Given the description of an element on the screen output the (x, y) to click on. 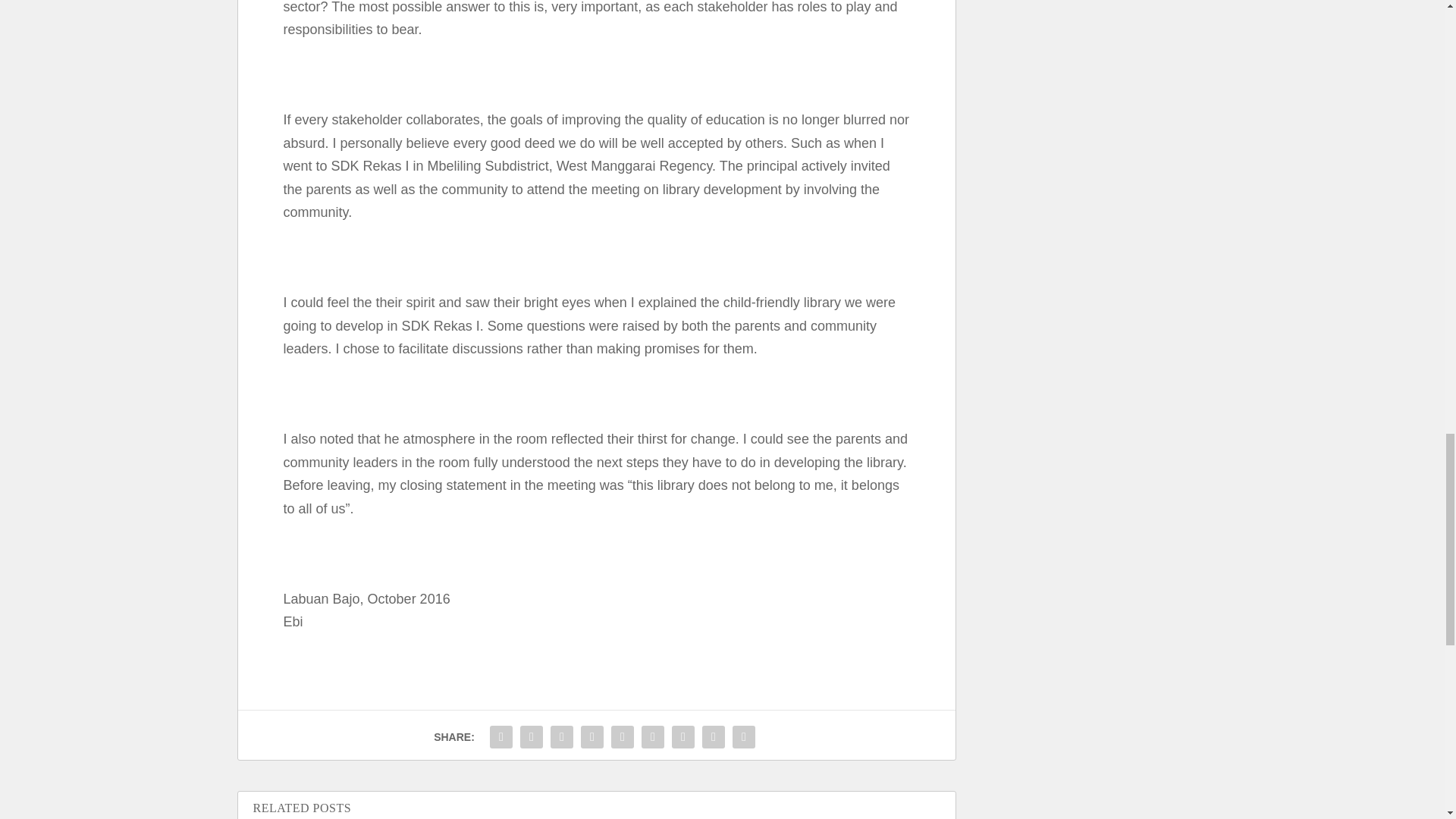
Share "A Library Belonging to All of Us" via LinkedIn (652, 736)
Share "A Library Belonging to All of Us" via Print (743, 736)
Share "A Library Belonging to All of Us" via Tumblr (591, 736)
Share "A Library Belonging to All of Us" via Email (713, 736)
Share "A Library Belonging to All of Us" via Pinterest (622, 736)
Share "A Library Belonging to All of Us" via Twitter (531, 736)
Share "A Library Belonging to All of Us" via Buffer (683, 736)
Share "A Library Belonging to All of Us" via Facebook (501, 736)
